Given the description of an element on the screen output the (x, y) to click on. 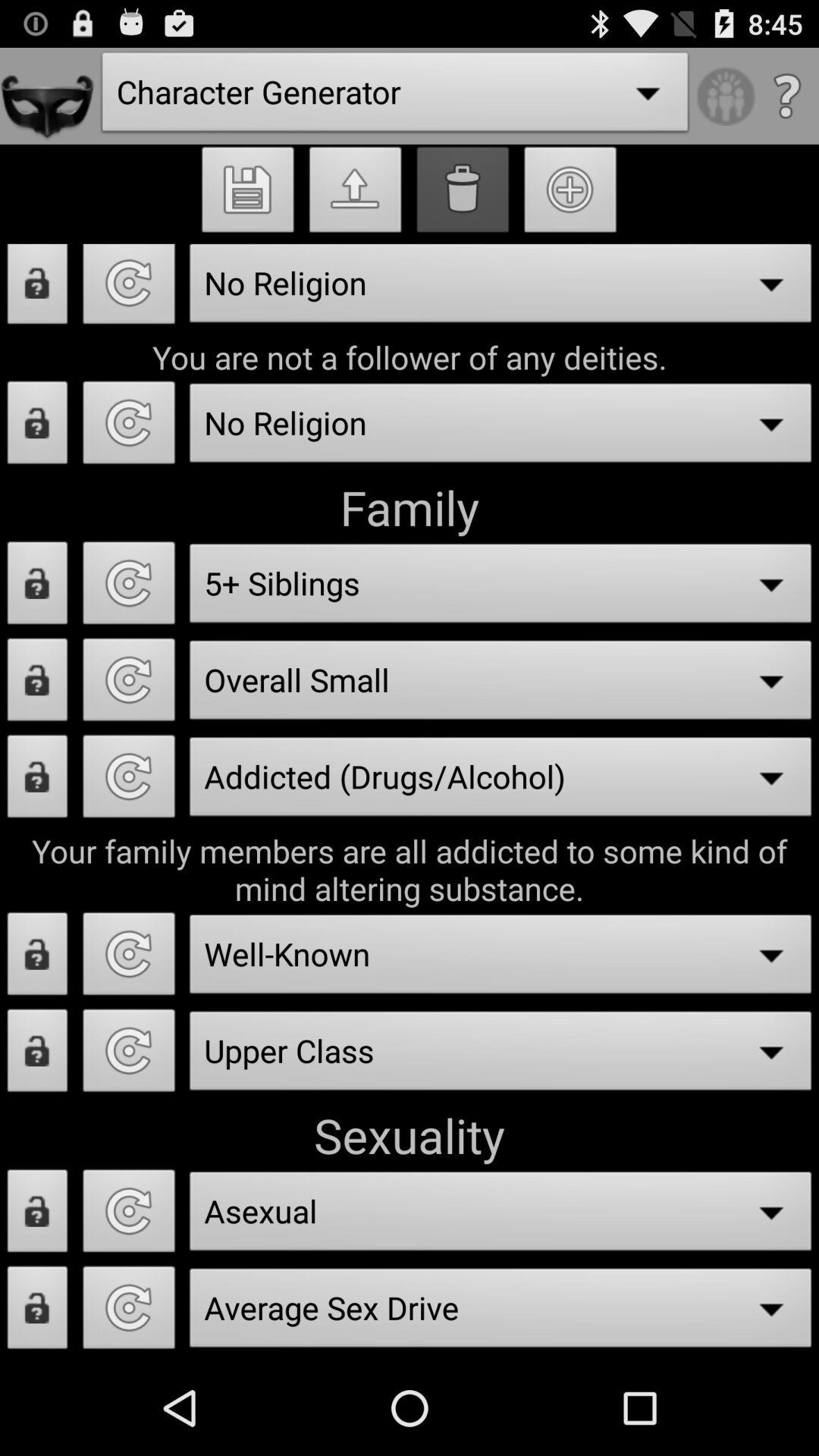
toggle lock option (37, 958)
